Given the description of an element on the screen output the (x, y) to click on. 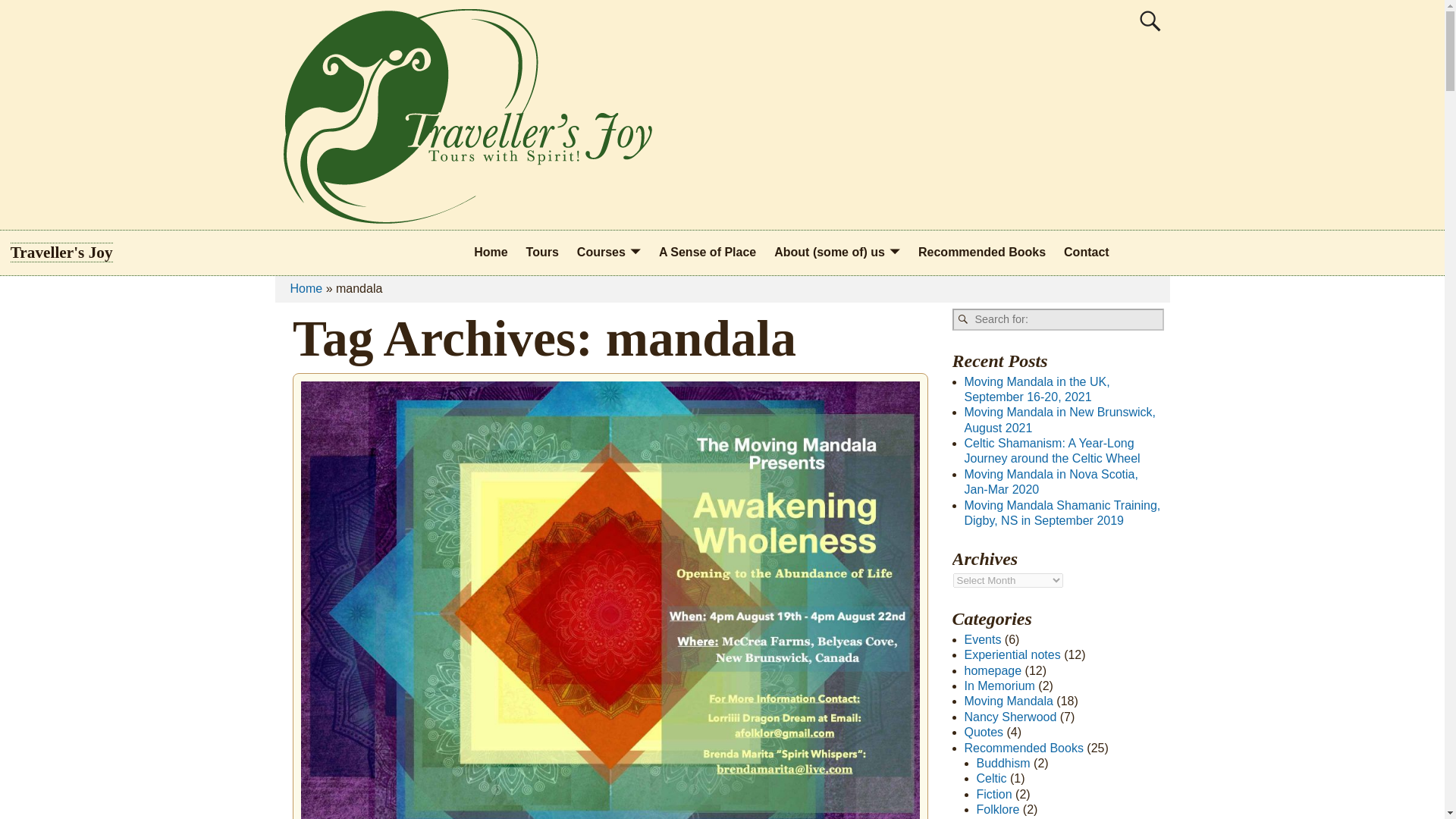
Home (305, 287)
A Sense of Place (707, 252)
Traveller's Joy (61, 252)
Contact (1086, 252)
Recommended Books (981, 252)
Tours (541, 252)
Courses (608, 252)
Home (490, 252)
